Given the description of an element on the screen output the (x, y) to click on. 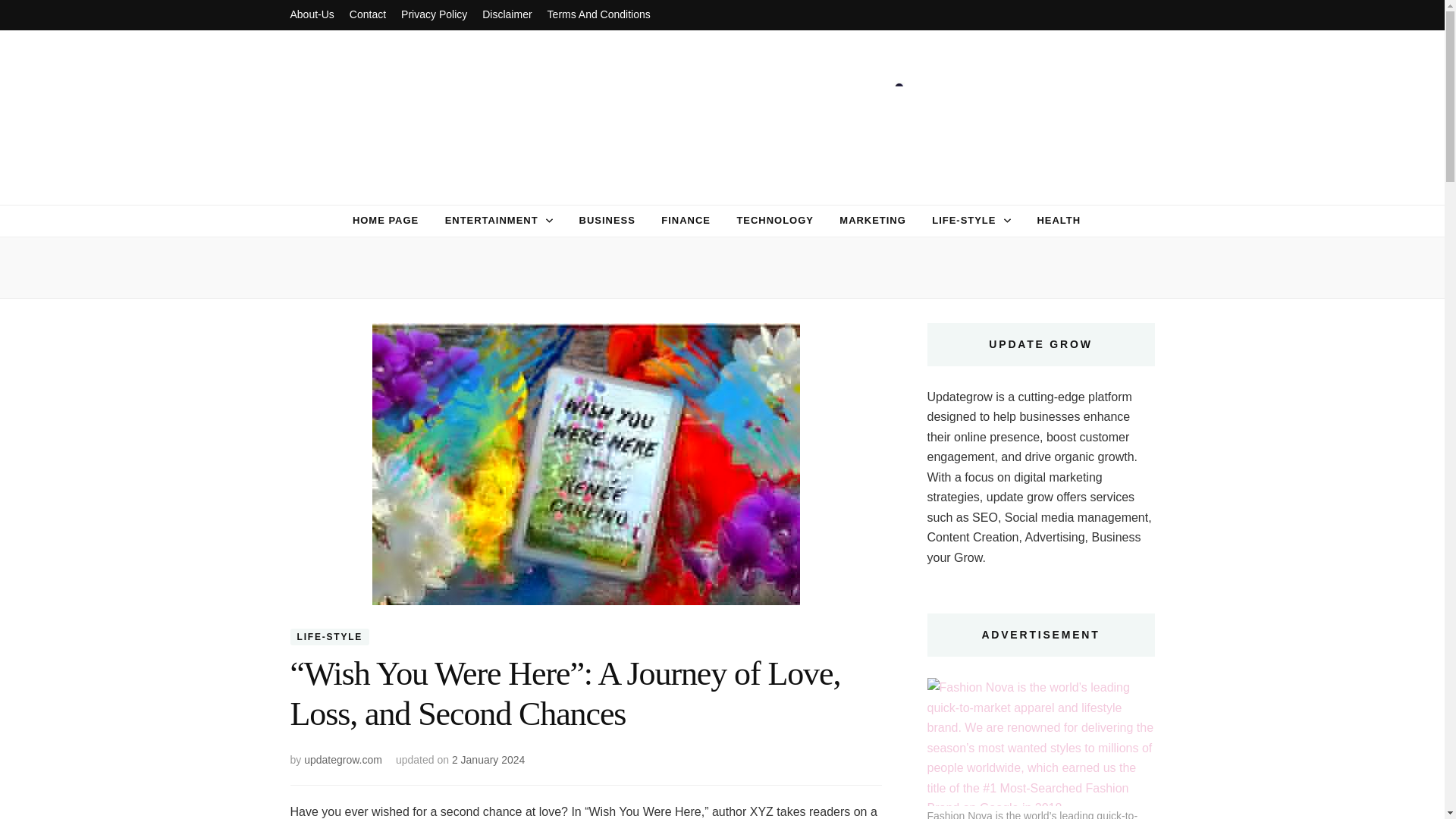
BUSINESS (606, 220)
About-Us (311, 15)
Terms And Conditions (598, 15)
Disclaimer (506, 15)
LIFE-STYLE (329, 636)
HOME PAGE (385, 220)
2 January 2024 (488, 759)
Contact (367, 15)
FINANCE (685, 220)
ENTERTAINMENT (491, 220)
